Given the description of an element on the screen output the (x, y) to click on. 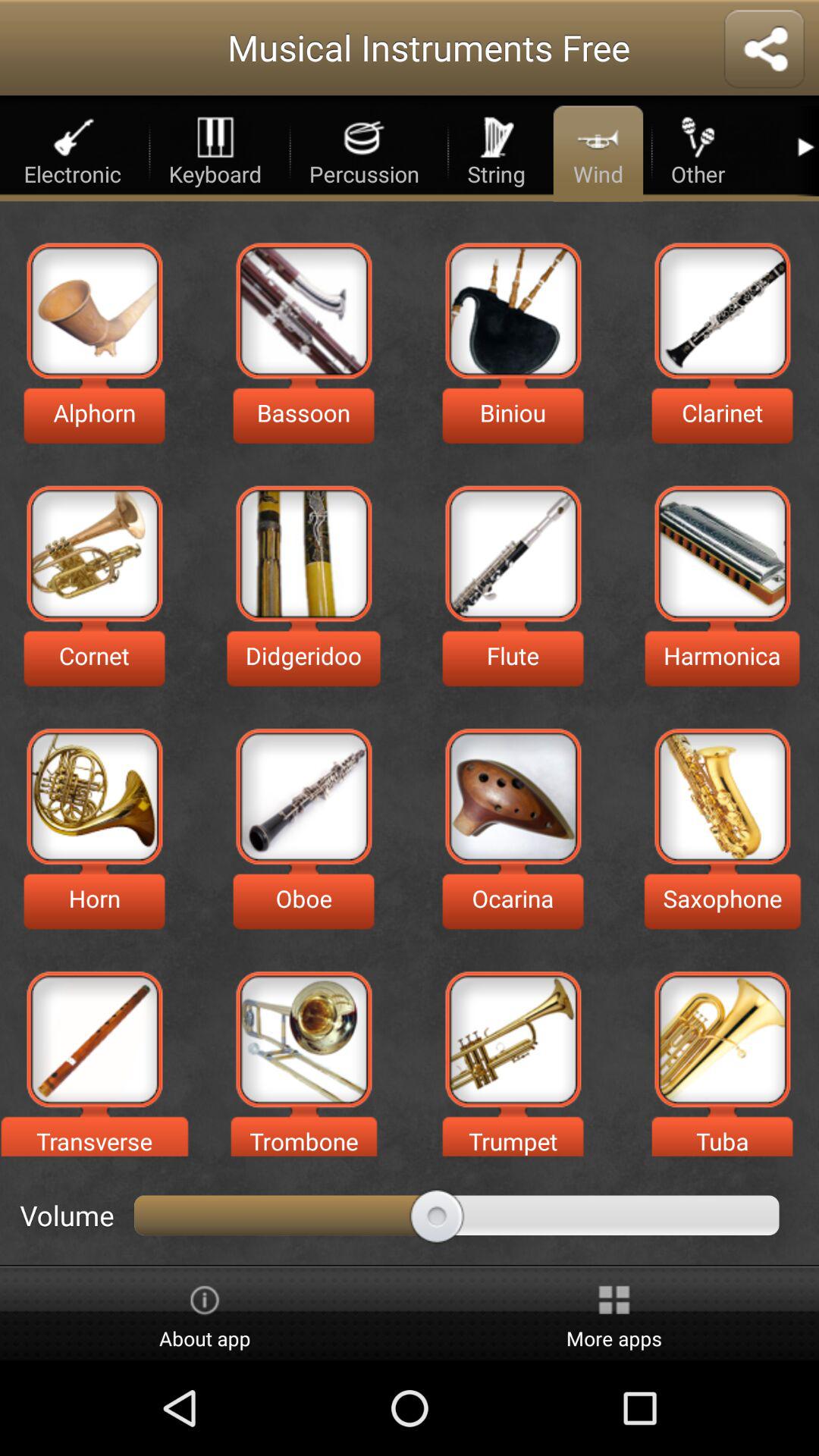
check bassoon option (303, 310)
